Given the description of an element on the screen output the (x, y) to click on. 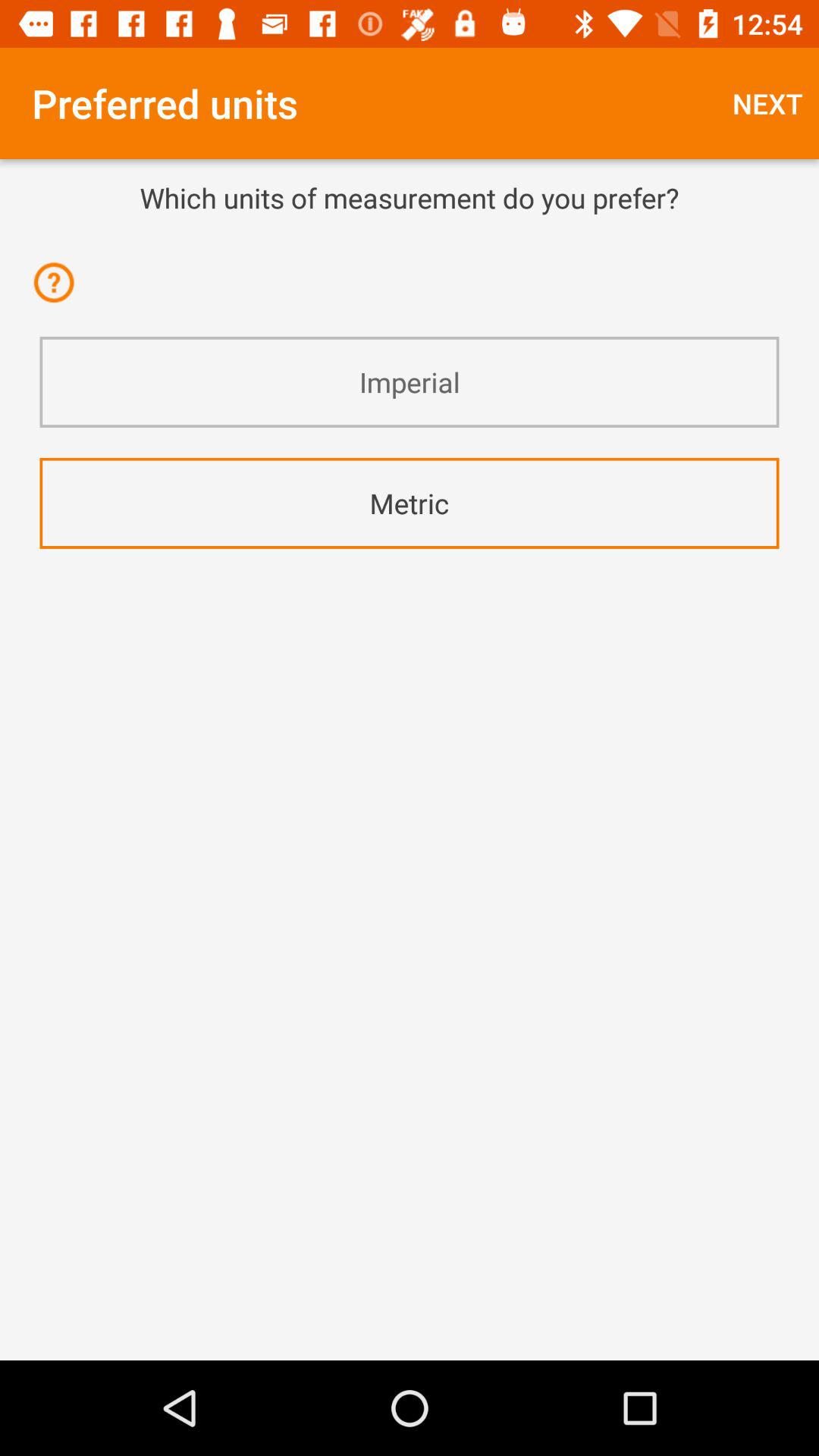
click the item to the right of the preferred units item (767, 103)
